Given the description of an element on the screen output the (x, y) to click on. 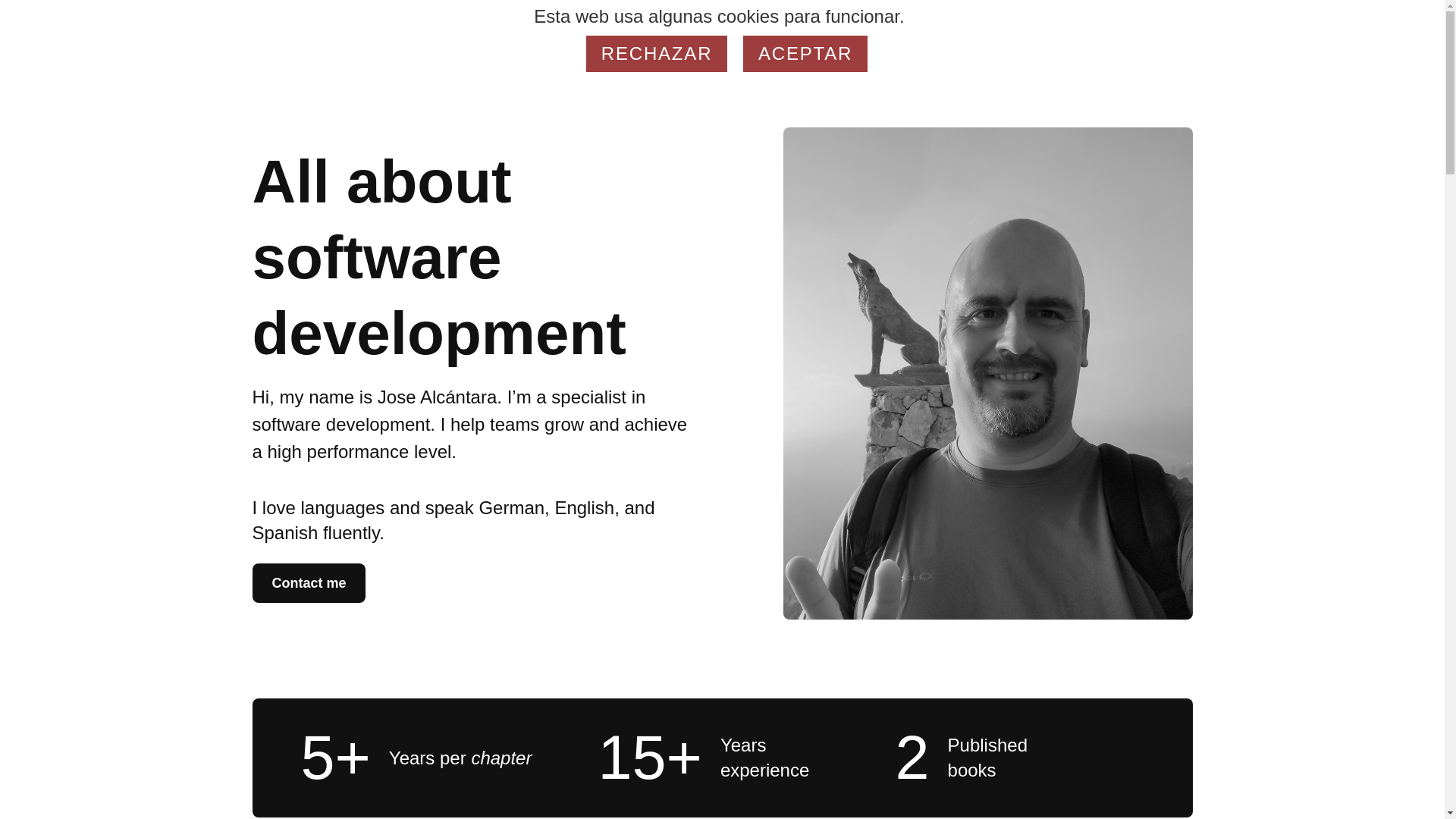
Contact me (308, 582)
PhD Thesis (1157, 24)
Contact (912, 24)
ACEPTAR (804, 53)
About Me (982, 24)
Publications (1066, 24)
RECHAZAR (656, 53)
